Given the description of an element on the screen output the (x, y) to click on. 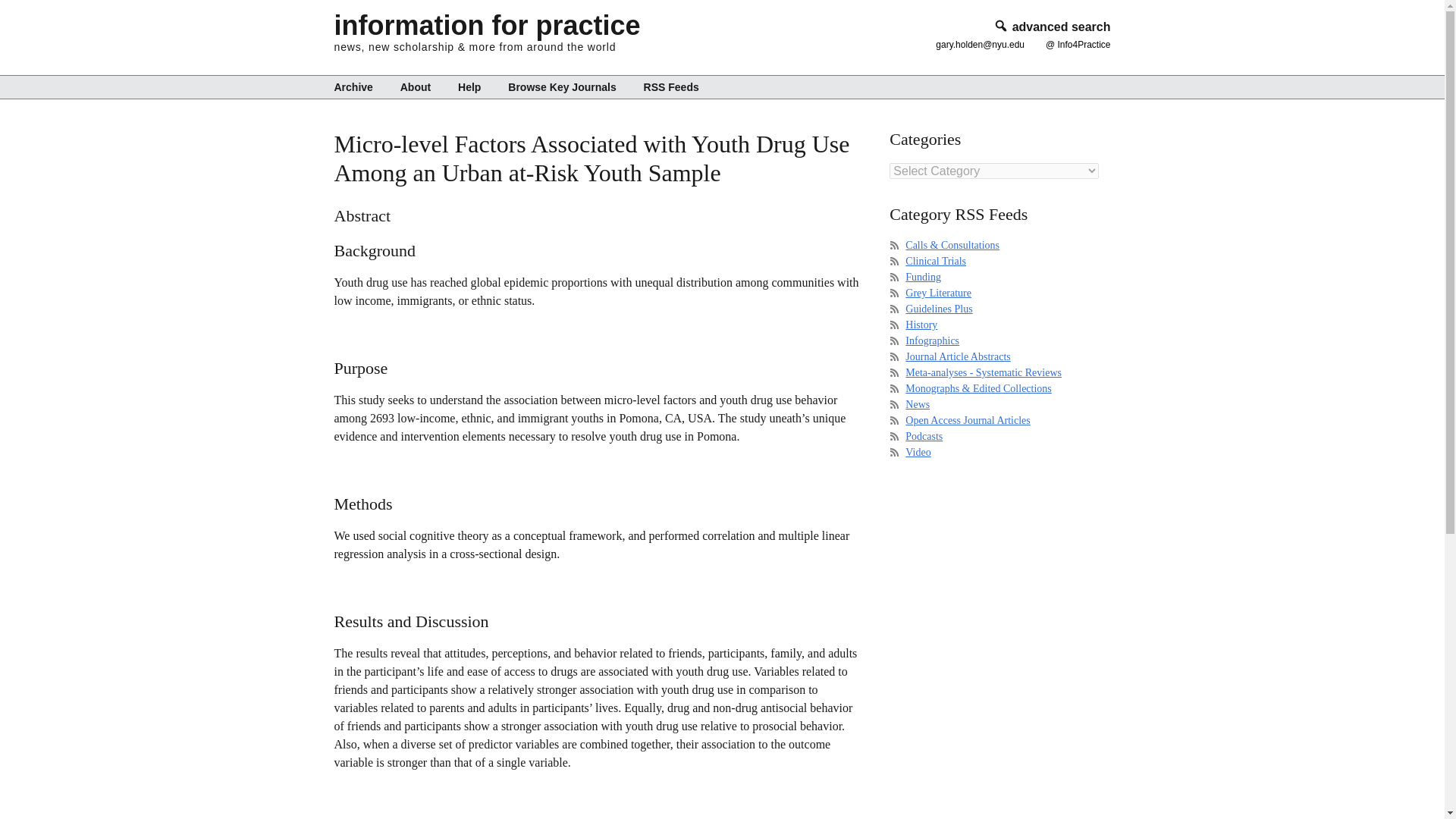
Grey Literature (938, 292)
RSS Feeds (664, 87)
Podcasts (923, 436)
information for practice (486, 24)
Journal Article Abstracts (957, 356)
Browse Key Journals (561, 87)
Archive (358, 87)
Open Access Journal Articles (967, 419)
Meta-analyses - Systematic Reviews (983, 372)
